Given the description of an element on the screen output the (x, y) to click on. 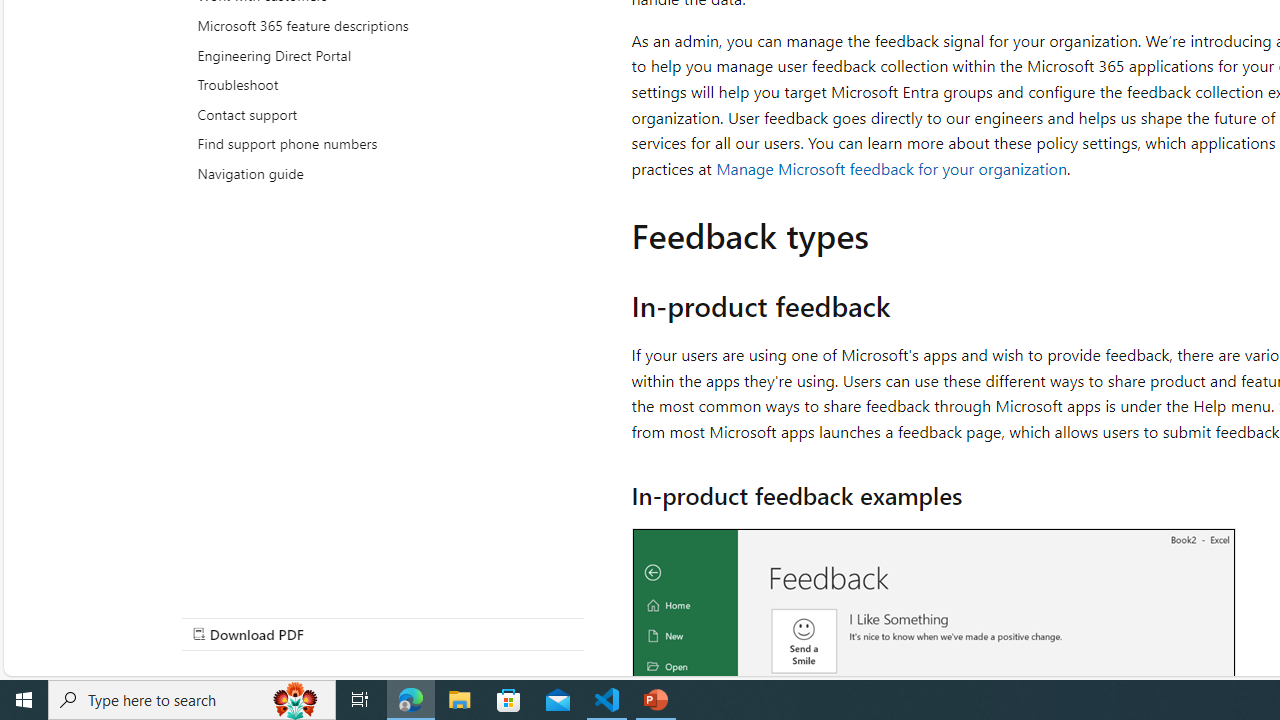
Download PDF (381, 633)
Manage Microsoft feedback for your organization (891, 167)
